Given the description of an element on the screen output the (x, y) to click on. 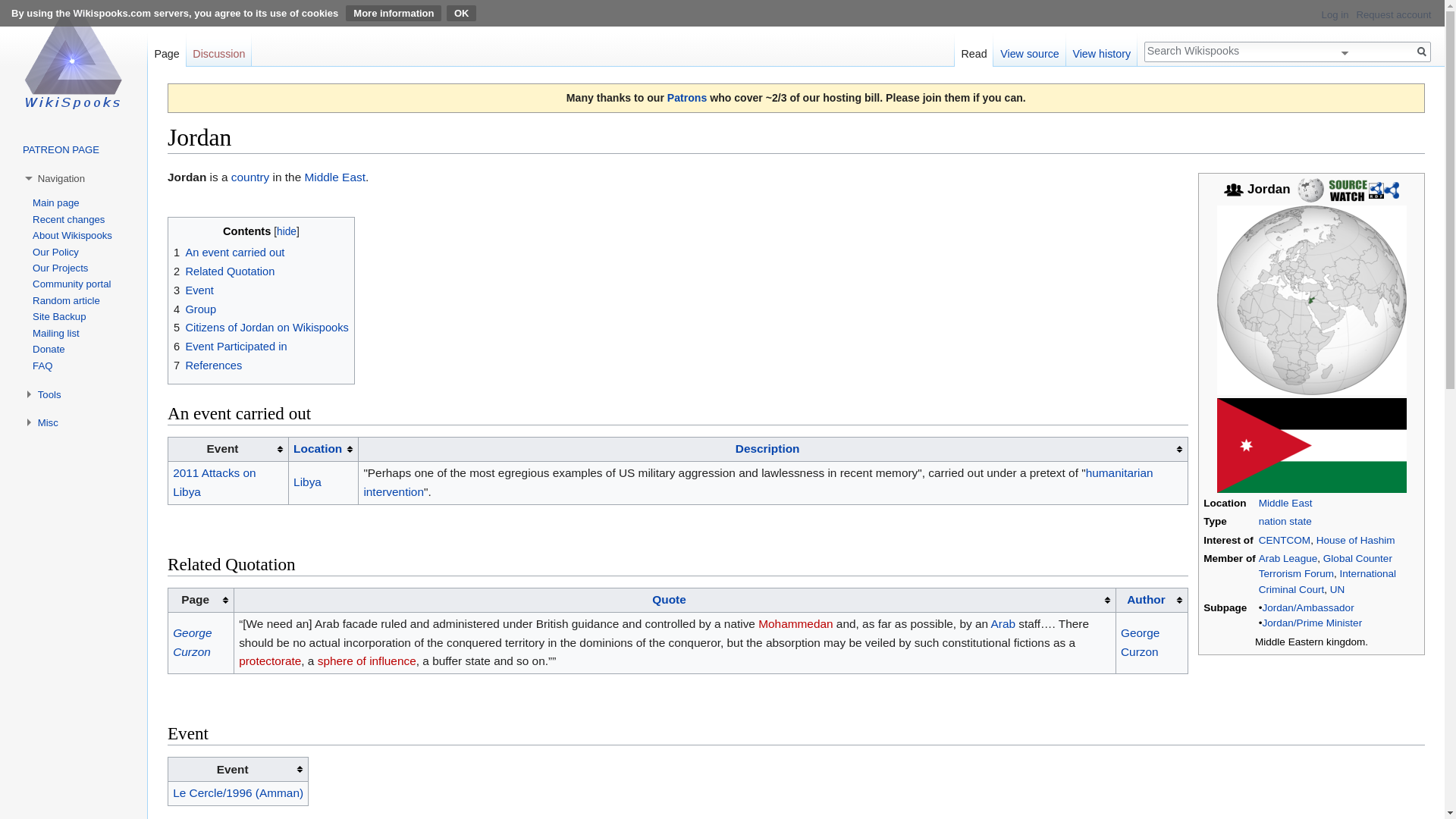
7 References (207, 365)
House of Hashim (1355, 540)
Description (767, 448)
Country (250, 176)
More information (393, 12)
Middle East (334, 176)
Global Counter Terrorism Forum (1325, 565)
2 Related Quotation (224, 271)
Jordan (186, 176)
International Criminal Court (1327, 581)
CENTCOM (1284, 540)
2011 Attacks on Libya (214, 481)
Patrons (686, 97)
Global Counter Terrorism Forum (1325, 565)
